Given the description of an element on the screen output the (x, y) to click on. 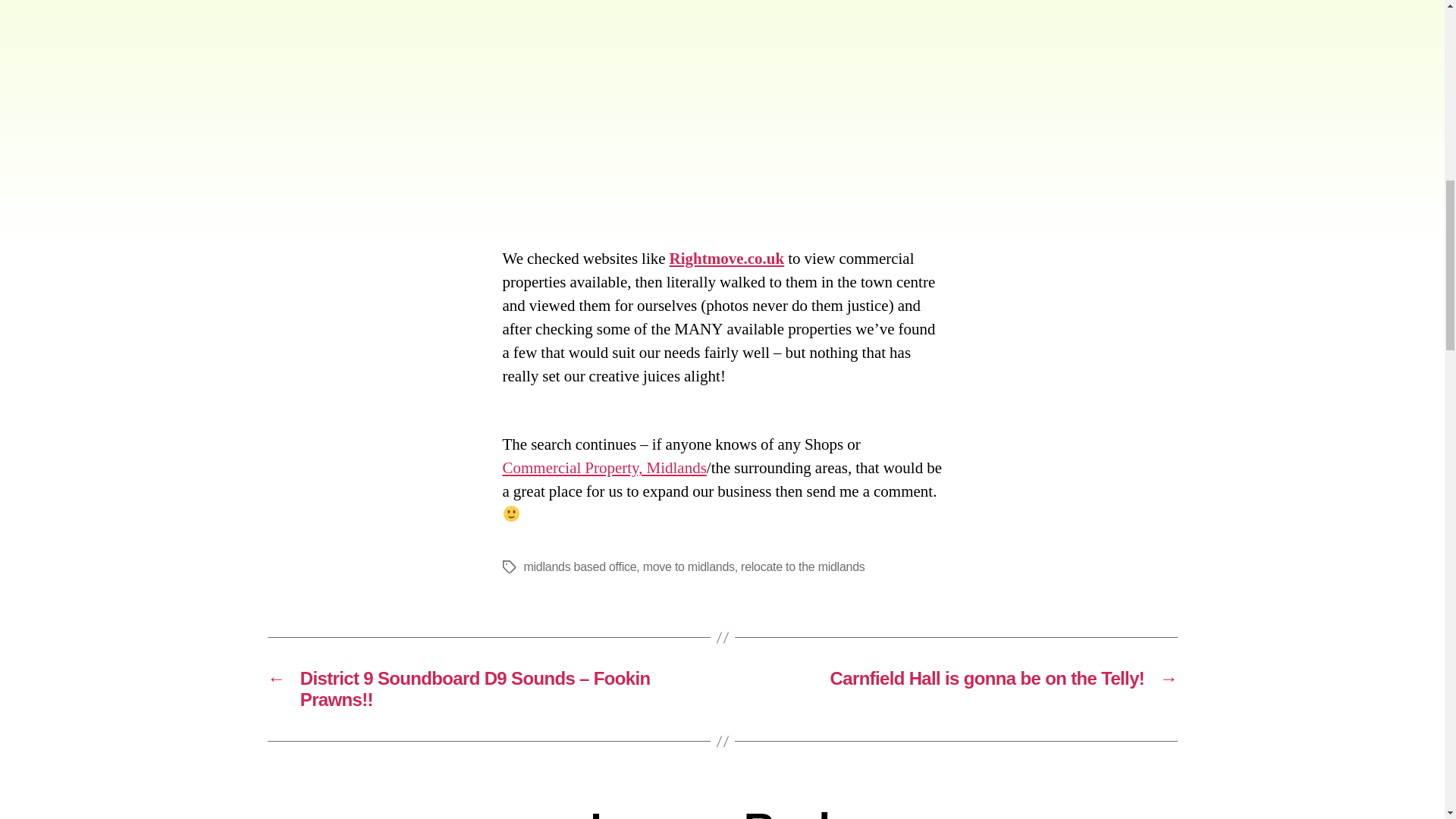
Rightmove.co.uk (726, 258)
move to midlands (689, 566)
midlands based office (579, 566)
Commercial Property Midlands (604, 467)
relocate to the midlands (802, 566)
Advertisement (722, 121)
Commercial Property, Midlands (604, 467)
